Given the description of an element on the screen output the (x, y) to click on. 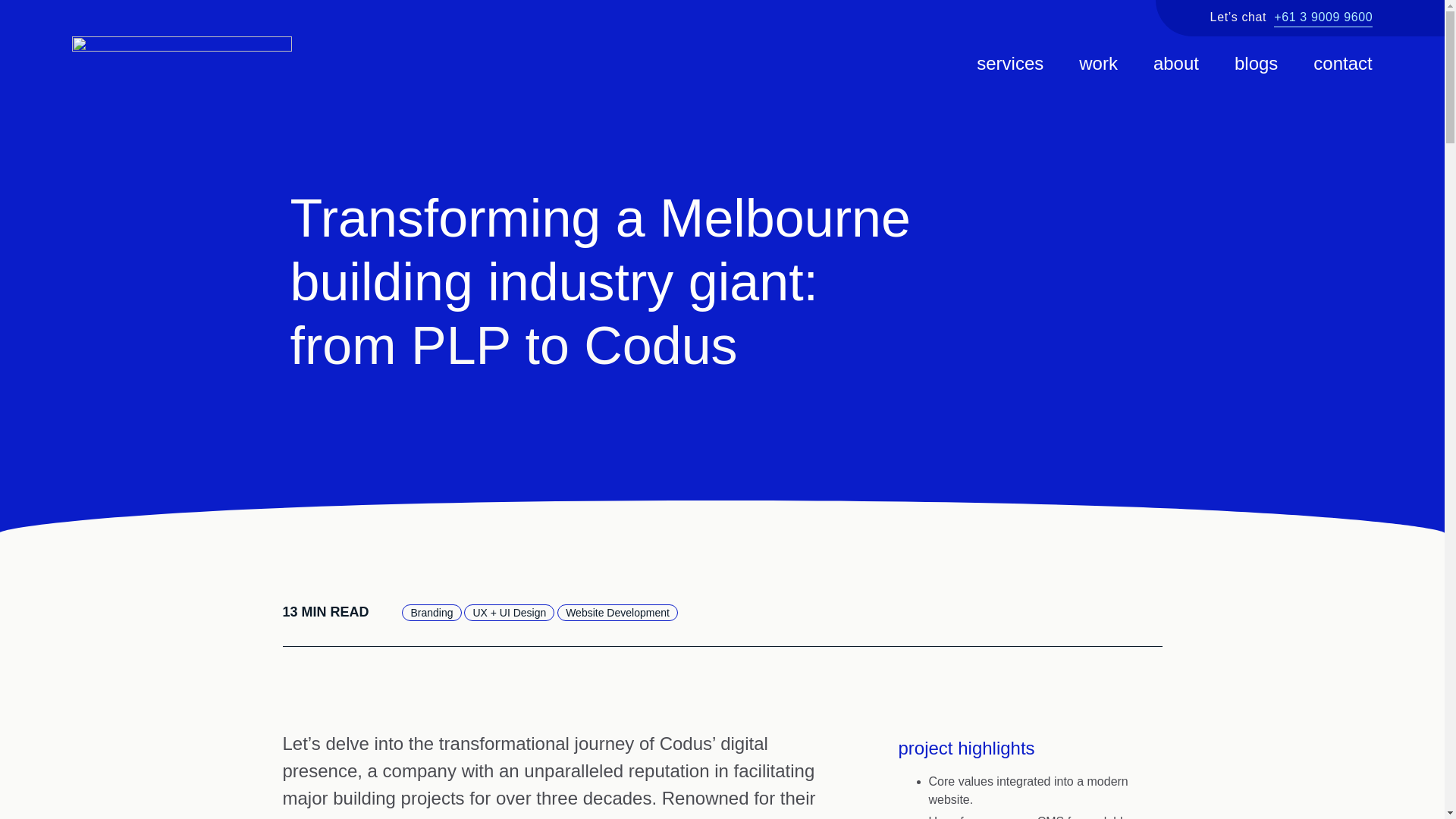
services (1009, 62)
blogs (1256, 62)
contact (1342, 62)
about (1175, 62)
work (1098, 62)
